Given the description of an element on the screen output the (x, y) to click on. 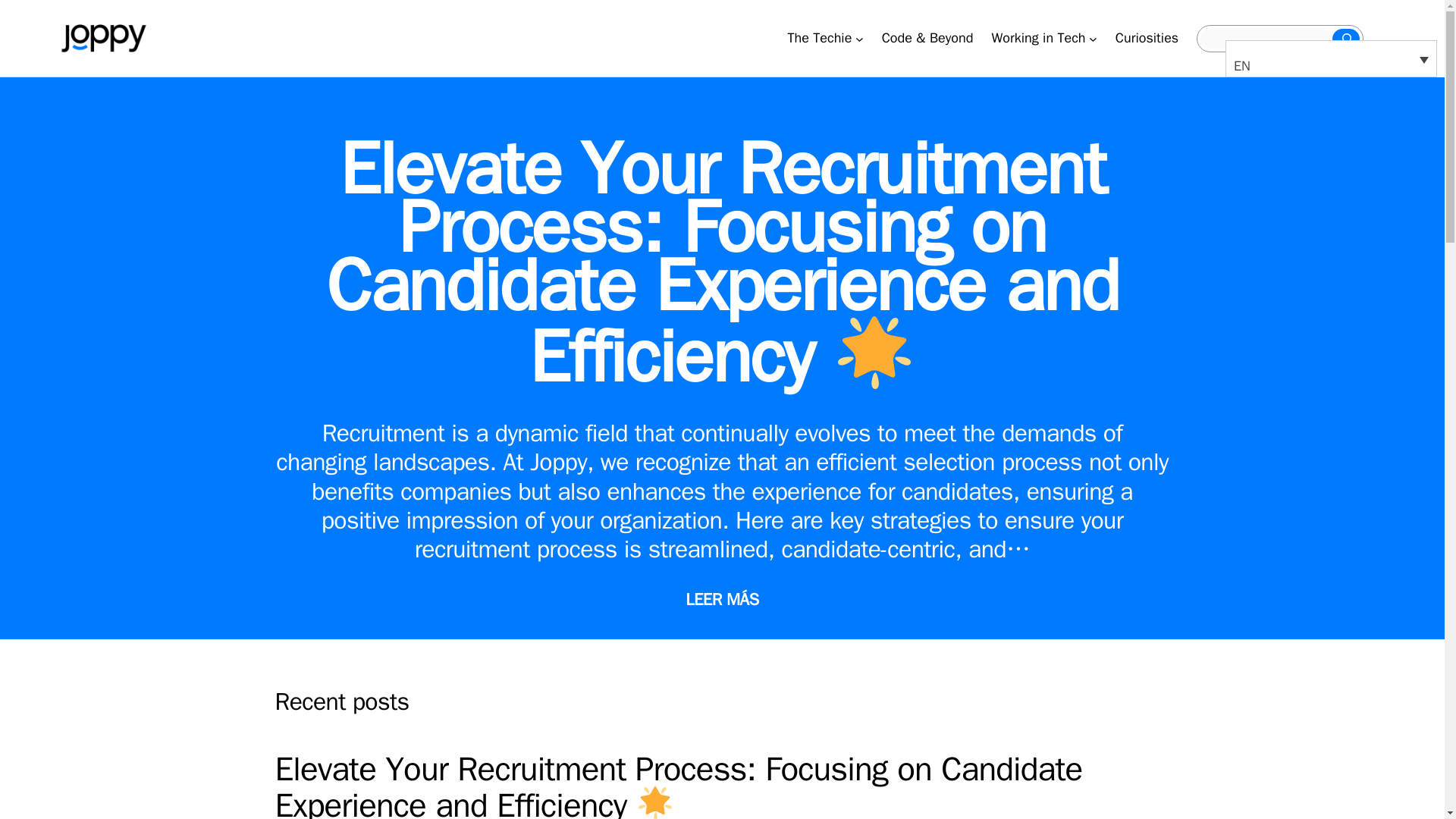
EN (1331, 58)
Working in Tech (1037, 38)
Curiosities (1146, 38)
The Techie (819, 38)
